Given the description of an element on the screen output the (x, y) to click on. 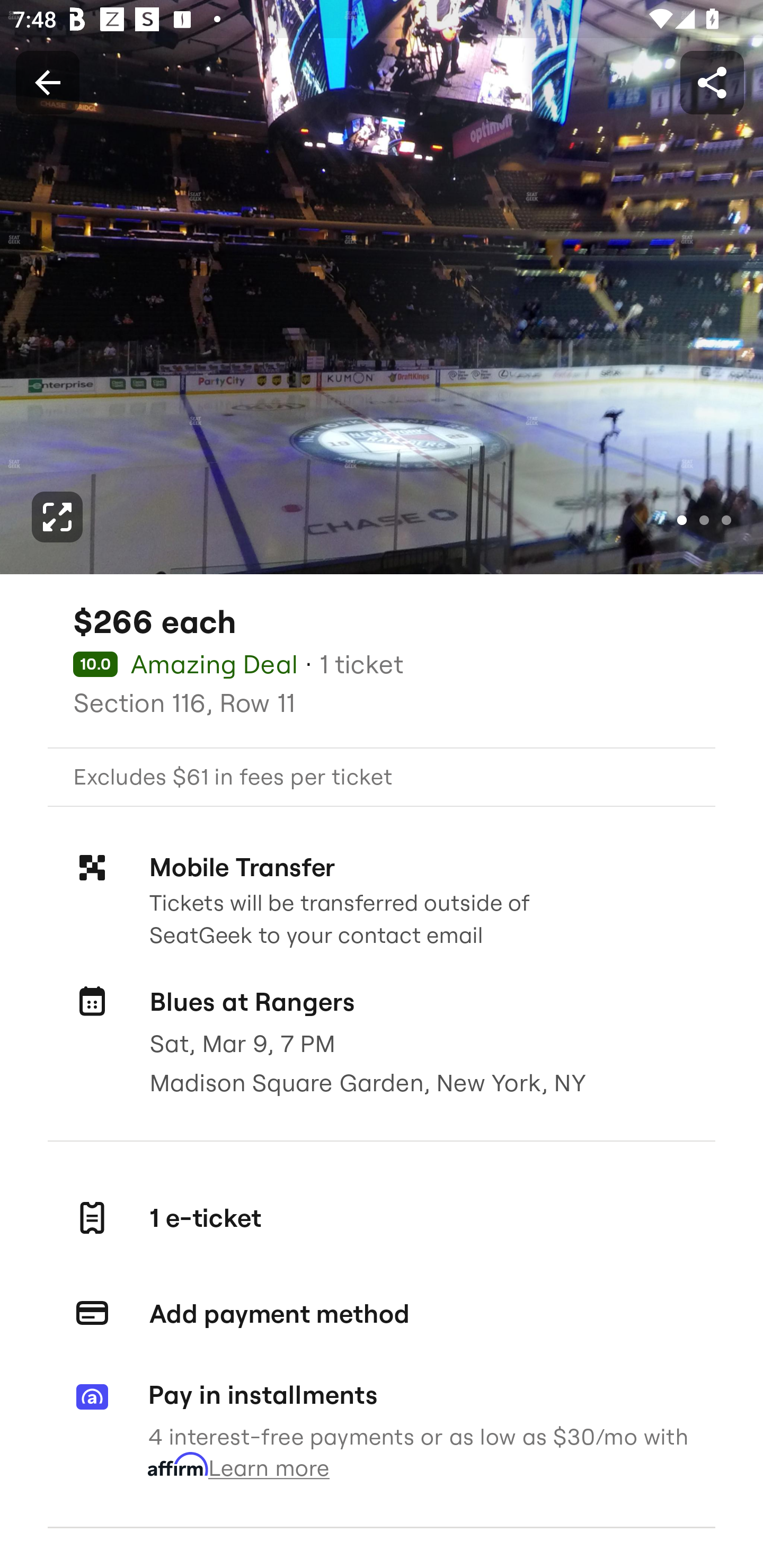
Back (47, 81)
Share (711, 81)
Expand image to fullscreen (57, 517)
1 e-ticket (381, 1217)
Add payment method (381, 1313)
